Given the description of an element on the screen output the (x, y) to click on. 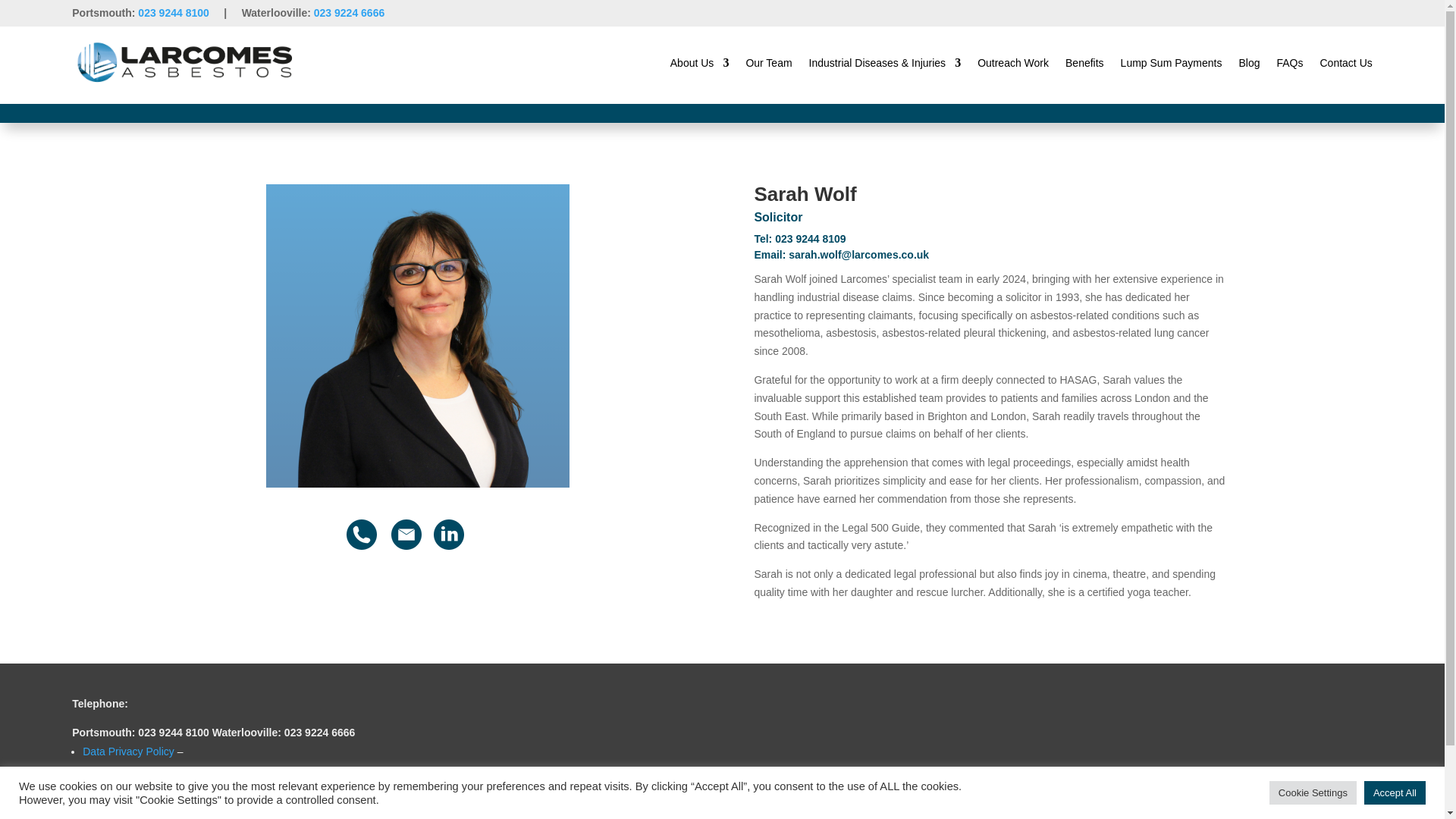
Sarah Wolf 1 (417, 335)
Lump Sum Payments (1172, 62)
About Us (699, 62)
Contact Us (1345, 62)
023 9244 8100  (174, 12)
023 9224 6666 (349, 12)
Outreach Work (1012, 62)
